Given the description of an element on the screen output the (x, y) to click on. 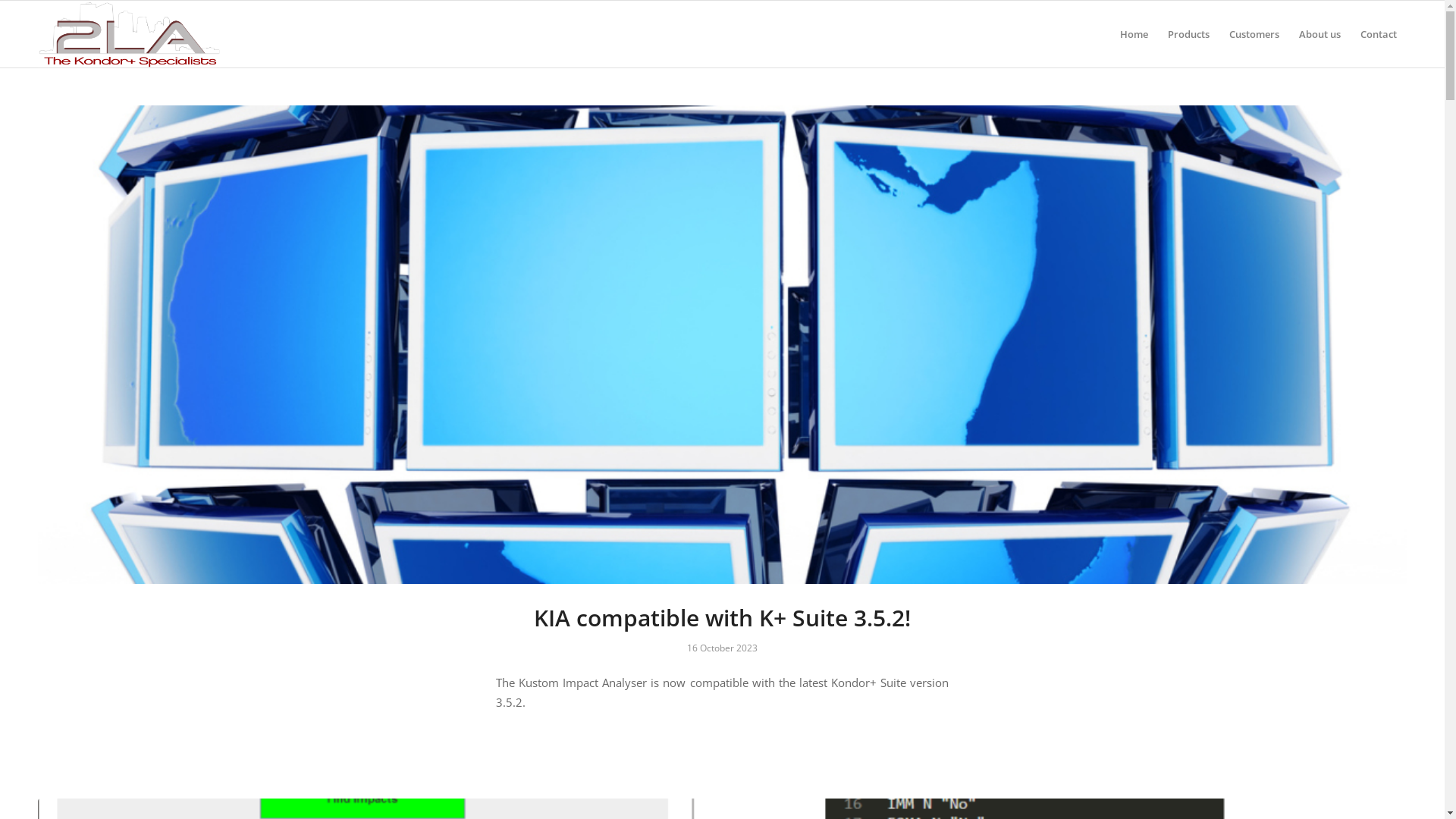
Products Element type: text (1188, 33)
Contact Element type: text (1378, 33)
Home Element type: text (1133, 33)
Customers Element type: text (1254, 33)
KIA compatible with K+ Suite 3.5.2! Element type: text (721, 617)
About us Element type: text (1319, 33)
2LA_logo Element type: hover (128, 33)
KIA compatible with K+ Suite 3.5.2! Element type: hover (721, 344)
